Given the description of an element on the screen output the (x, y) to click on. 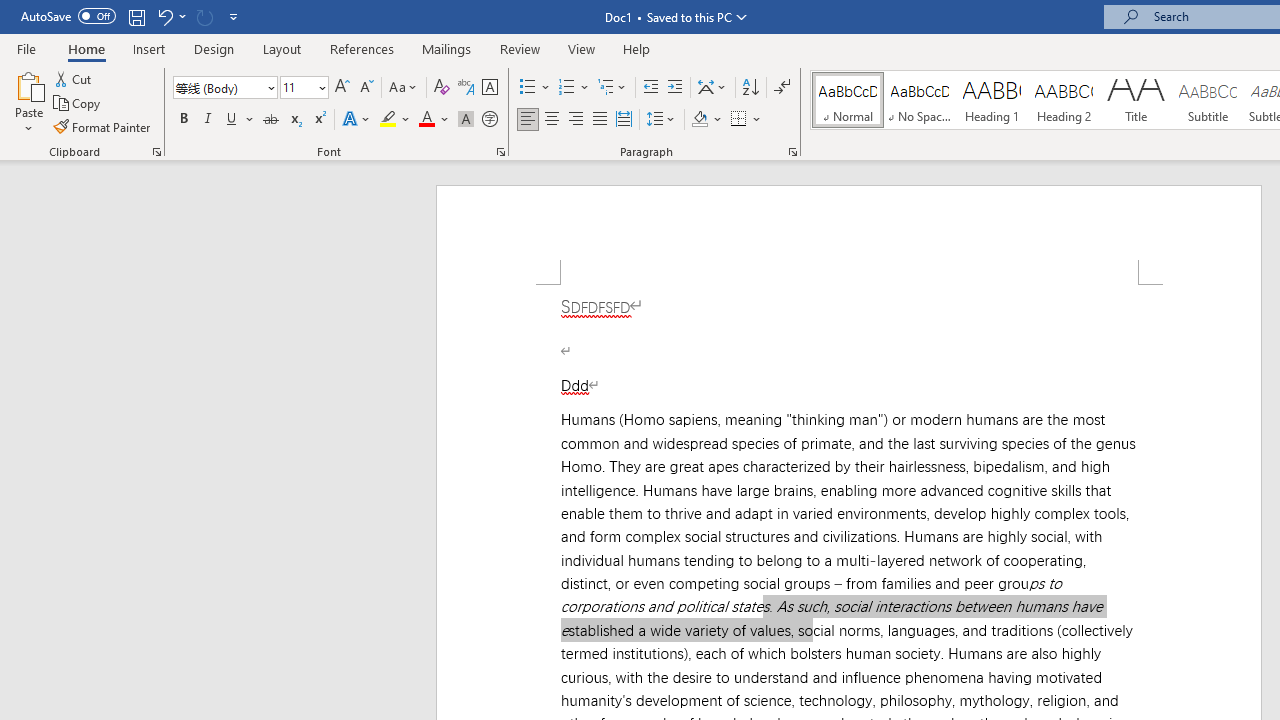
Text Highlight Color Yellow (388, 119)
Clear Formatting (442, 87)
Underline (232, 119)
Format Painter (103, 126)
Increase Indent (675, 87)
Shading (706, 119)
Italic (207, 119)
System (10, 11)
Change Case (404, 87)
Subtitle (1208, 100)
Center (552, 119)
Paragraph... (792, 151)
Customize Quick Access Toolbar (234, 15)
Phonetic Guide... (465, 87)
Character Shading (465, 119)
